Given the description of an element on the screen output the (x, y) to click on. 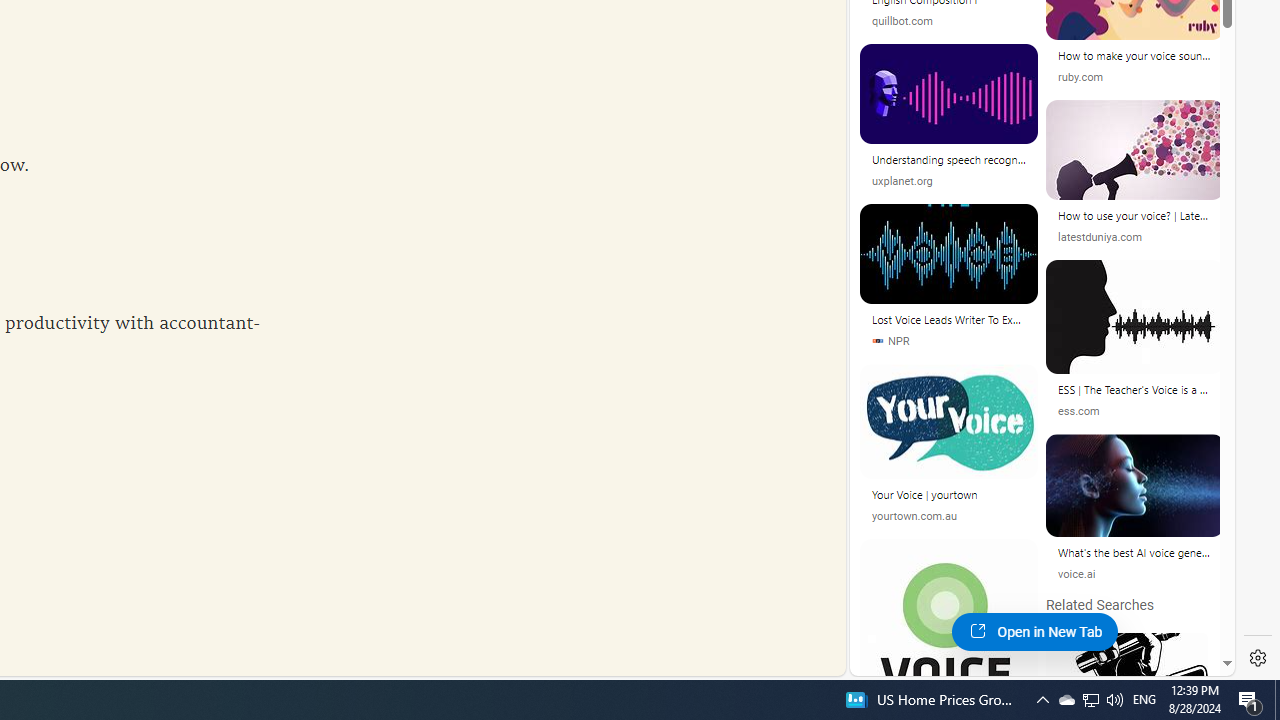
yourtown.com.au (914, 515)
NPR (948, 340)
ess.com (1135, 411)
What's the best AI voice generator? - voice.ai (1135, 552)
ESS | The Teacher's Voice is a Powerful Instrument (1135, 390)
How to make your voice sound better | Ruby Blog (1135, 56)
latestduniya.com (1100, 237)
Your Voice | yourtownyourtown.com.au (949, 451)
ESS | The Teacher's Voice is a Powerful Instrument (1135, 392)
